Given the description of an element on the screen output the (x, y) to click on. 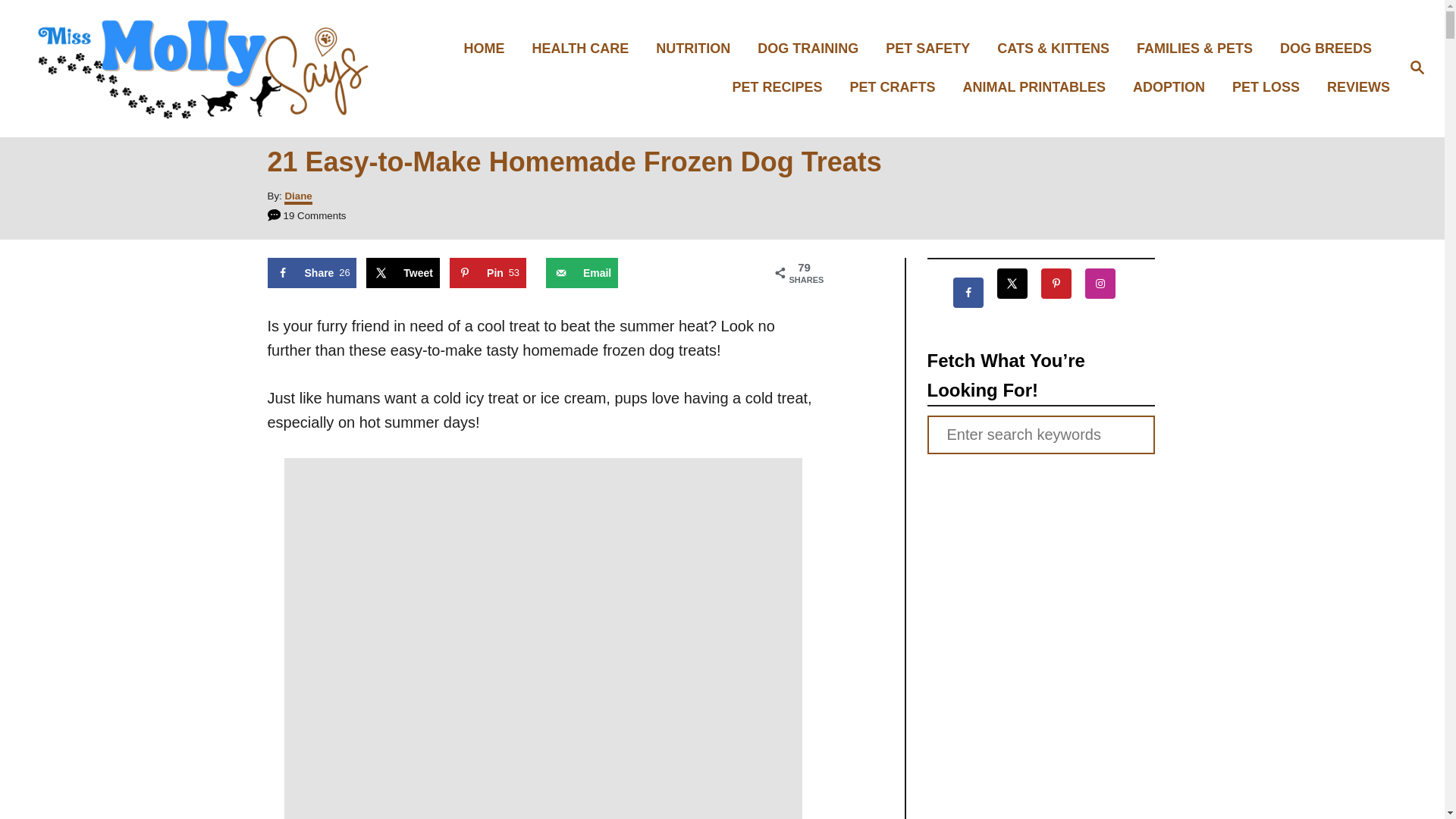
Magnifying Glass (1416, 67)
DOG BREEDS (1330, 48)
NUTRITION (697, 48)
ADOPTION (1173, 87)
PET LOSS (1270, 87)
PET RECIPES (782, 87)
ANIMAL PRINTABLES (1038, 87)
PET CRAFTS (897, 87)
Save to Pinterest (487, 272)
